Given the description of an element on the screen output the (x, y) to click on. 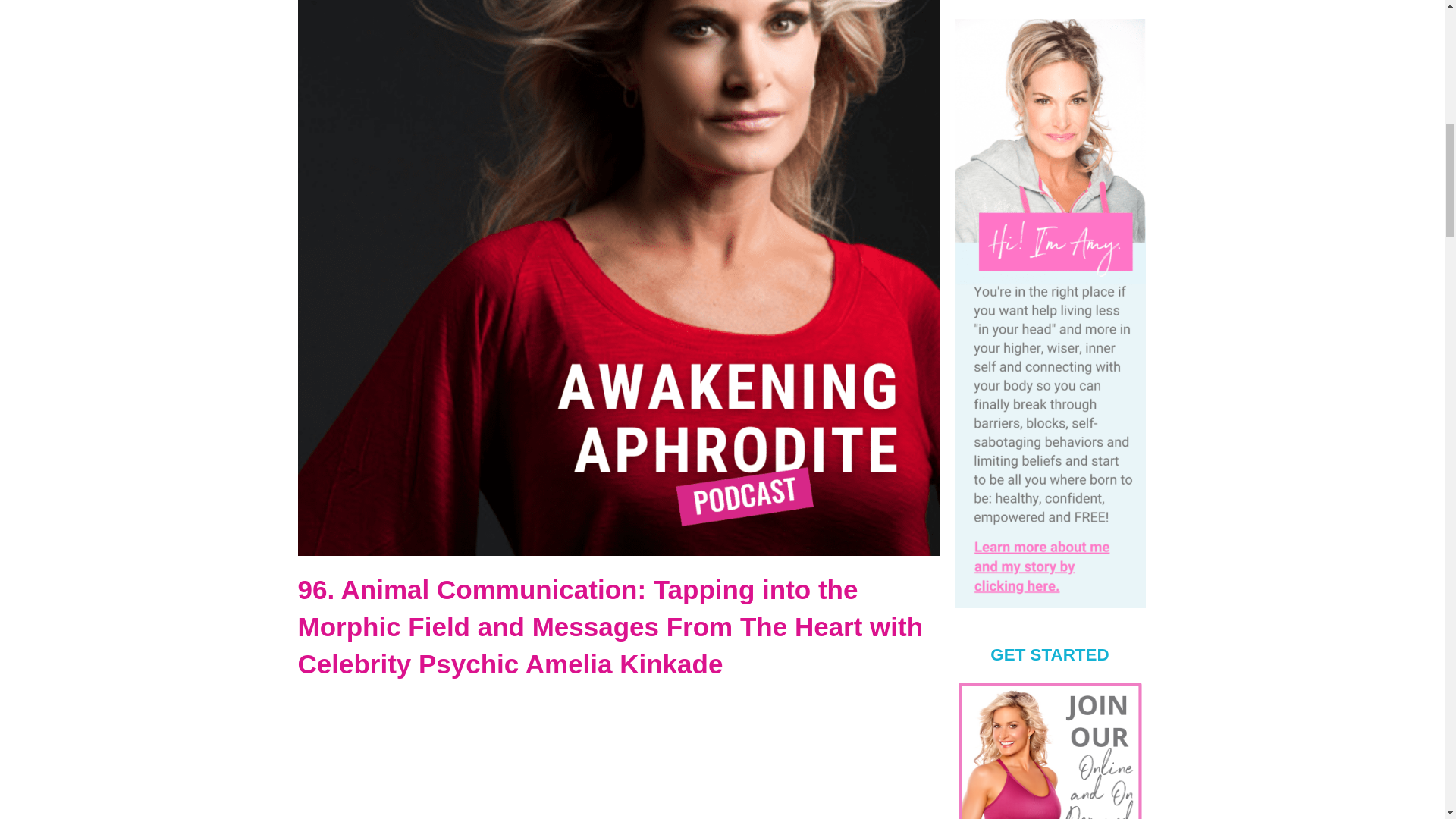
Search (1120, 0)
Search (1120, 0)
GET STARTED (1048, 749)
